Given the description of an element on the screen output the (x, y) to click on. 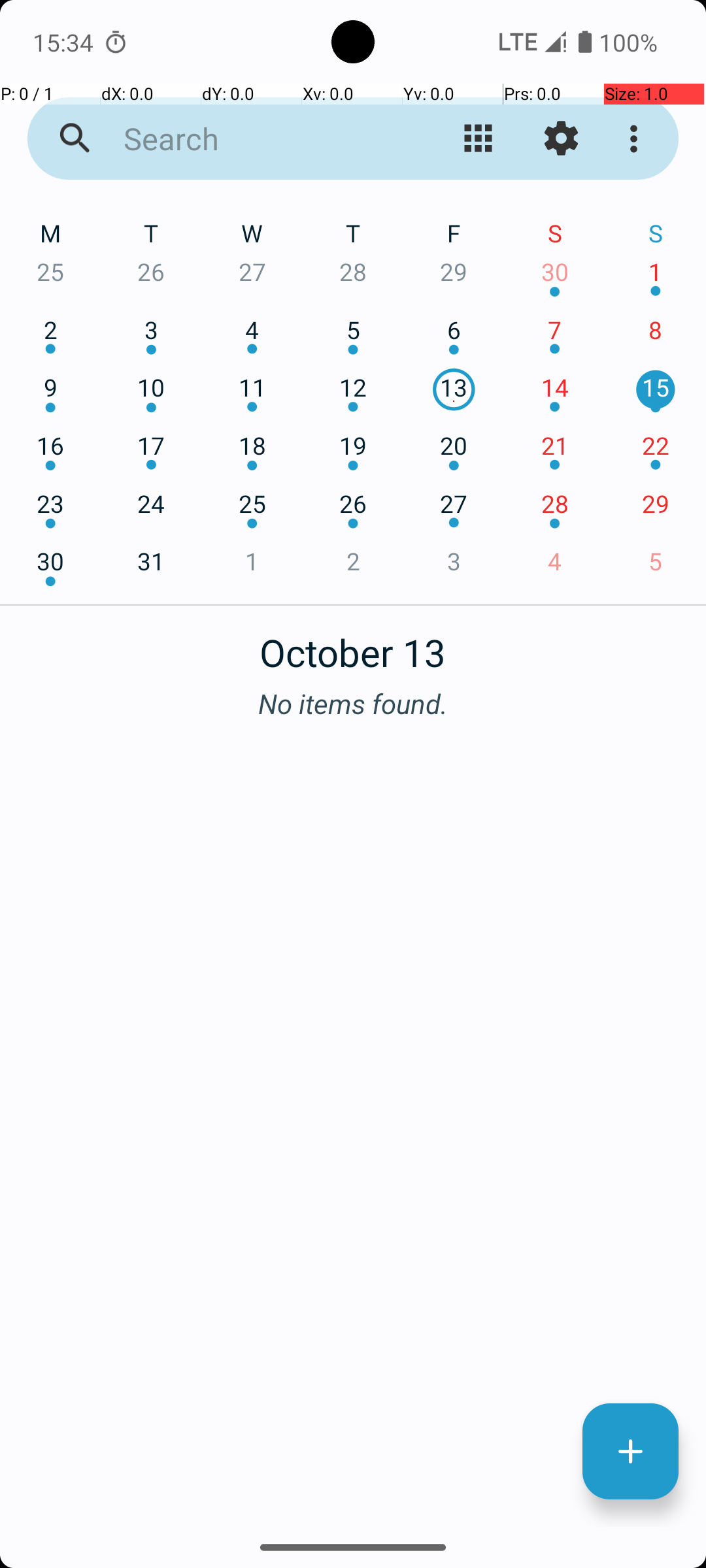
October 13 Element type: android.widget.TextView (352, 644)
